Given the description of an element on the screen output the (x, y) to click on. 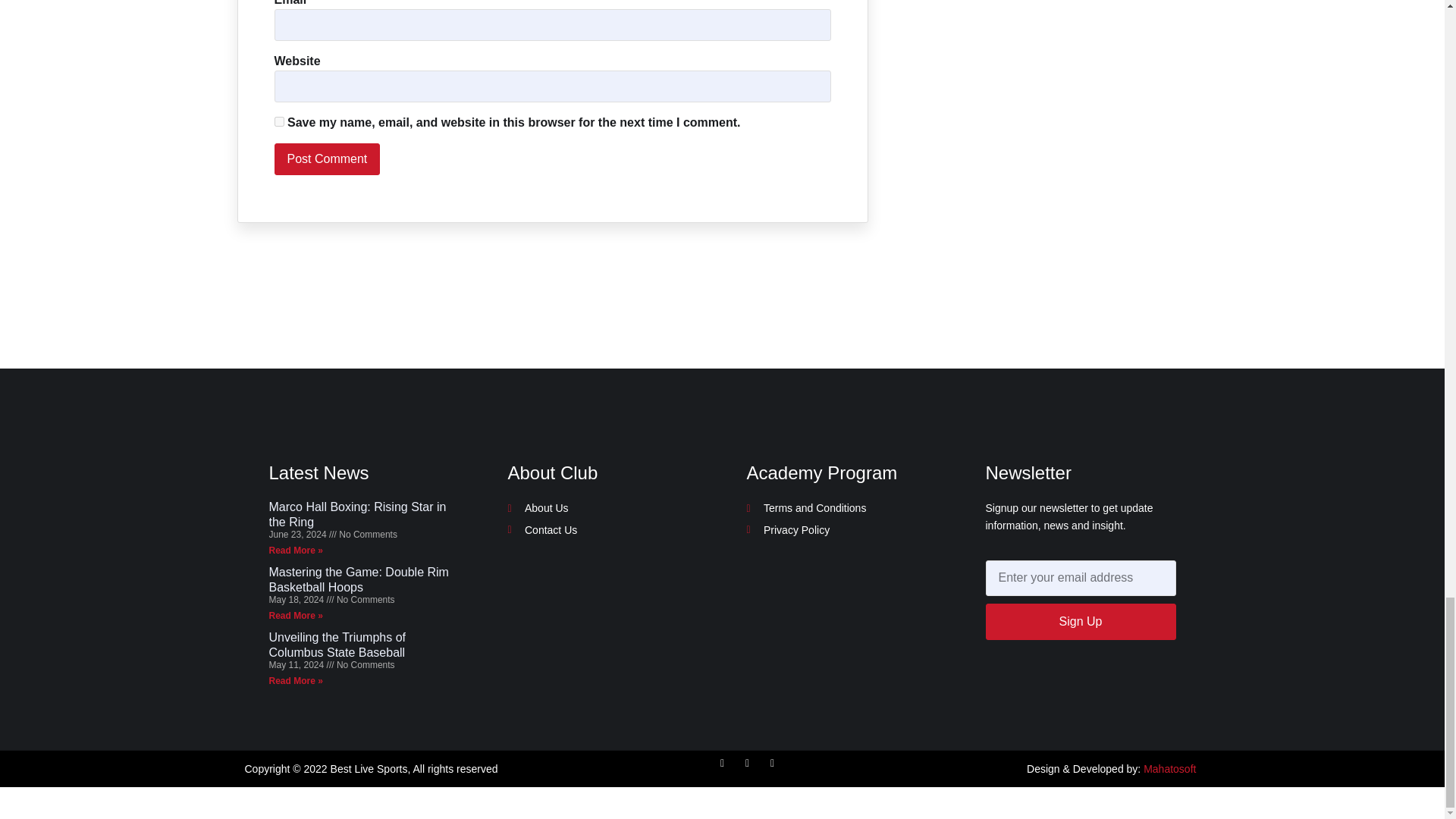
Marco Hall Boxing: Rising Star in the Ring (356, 513)
Post Comment (327, 159)
yes (279, 121)
Post Comment (327, 159)
